Given the description of an element on the screen output the (x, y) to click on. 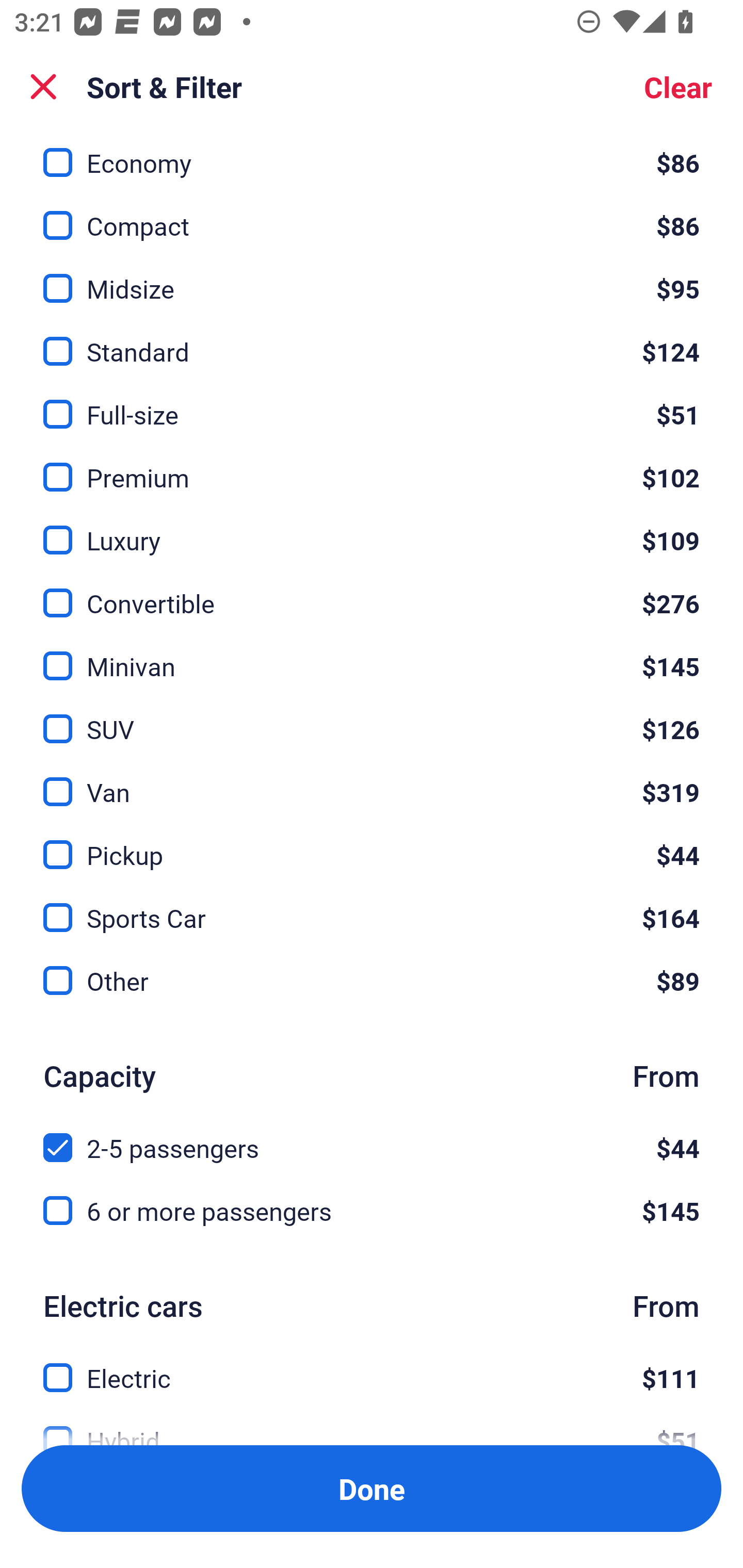
Close Sort and Filter (43, 86)
Clear (677, 86)
Economy, $86 Economy $86 (371, 155)
Compact, $86 Compact $86 (371, 213)
Midsize, $95 Midsize $95 (371, 277)
Standard, $124 Standard $124 (371, 339)
Full-size, $51 Full-size $51 (371, 402)
Premium, $102 Premium $102 (371, 465)
Luxury, $109 Luxury $109 (371, 528)
Convertible, $276 Convertible $276 (371, 590)
Minivan, $145 Minivan $145 (371, 654)
SUV, $126 SUV $126 (371, 717)
Van, $319 Van $319 (371, 780)
Pickup, $44 Pickup $44 (371, 843)
Sports Car, $164 Sports Car $164 (371, 905)
Other, $89 Other $89 (371, 980)
2-5 passengers, $44 2-5 passengers $44 (371, 1136)
Electric, $111 Electric $111 (371, 1365)
Apply and close Sort and Filter Done (371, 1488)
